Given the description of an element on the screen output the (x, y) to click on. 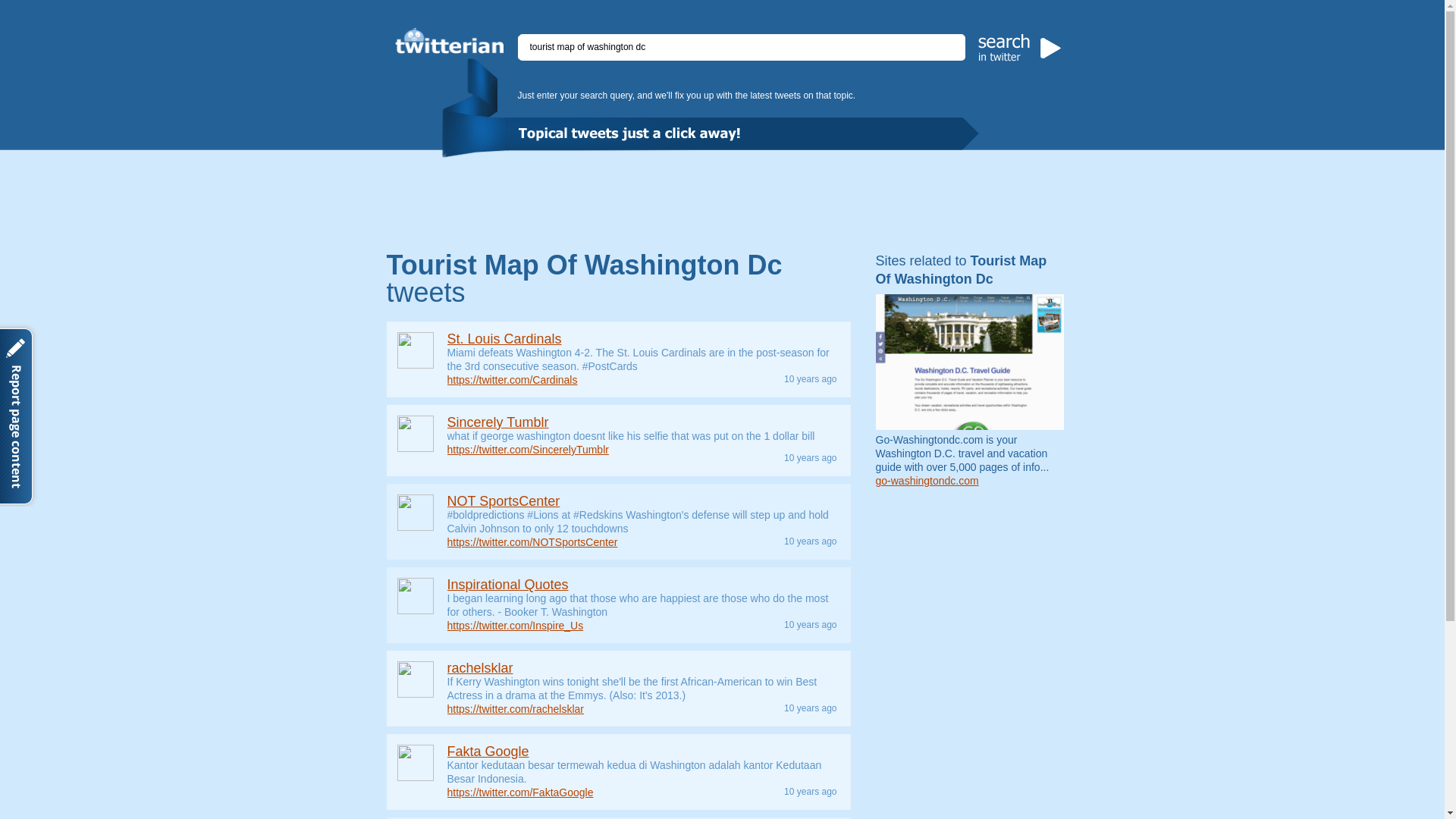
go-washingtondc.com (926, 480)
NOT SportsCenter (503, 500)
rachelsklar (479, 667)
St. Louis Cardinals (504, 338)
tourist map of washington dc (742, 47)
Advertisement (721, 199)
Sincerely Tumblr (497, 421)
Inspirational Quotes (507, 584)
Fakta Google (487, 751)
